Given the description of an element on the screen output the (x, y) to click on. 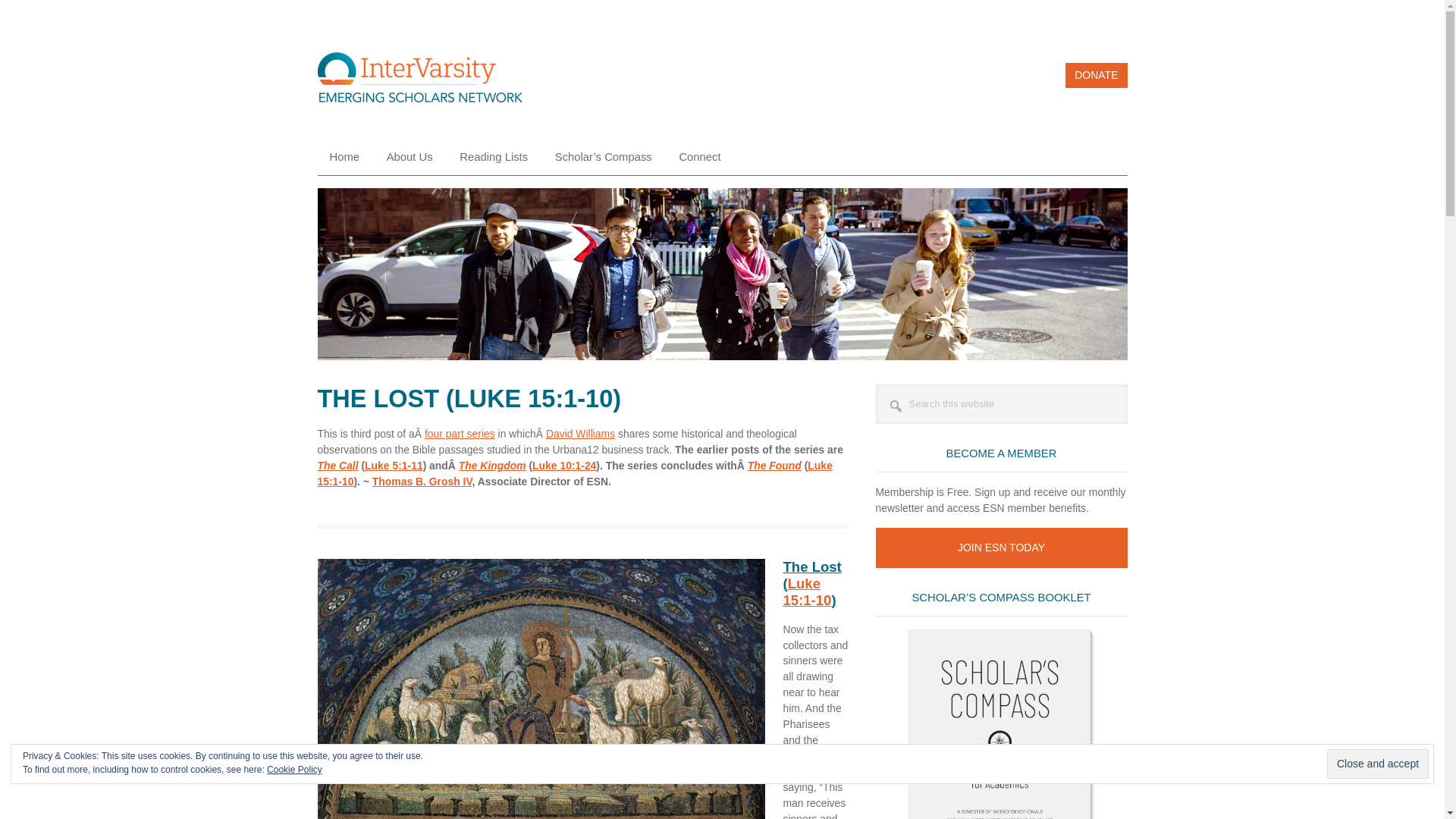
Home (344, 157)
Connect (699, 157)
About Us (409, 157)
David Williams (580, 433)
Luke 5:1-11 (394, 465)
The Call (337, 465)
DONATE (1095, 75)
Luke 15:1-10 (807, 591)
Luke 10:1-24 (563, 465)
The Found (775, 465)
